Given the description of an element on the screen output the (x, y) to click on. 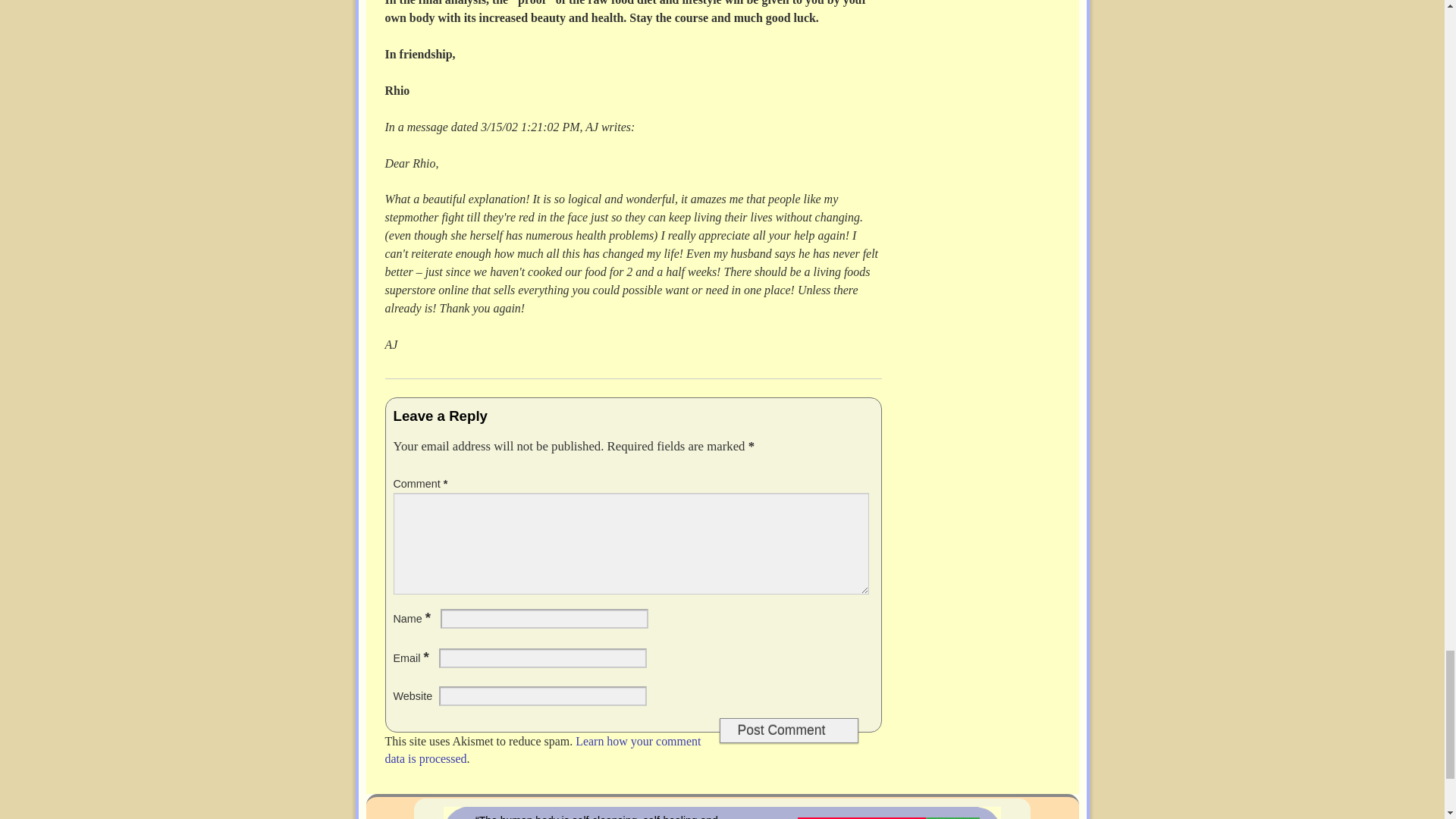
Post Comment (788, 730)
Learn how your comment data is processed (543, 749)
Post Comment (788, 730)
